Given the description of an element on the screen output the (x, y) to click on. 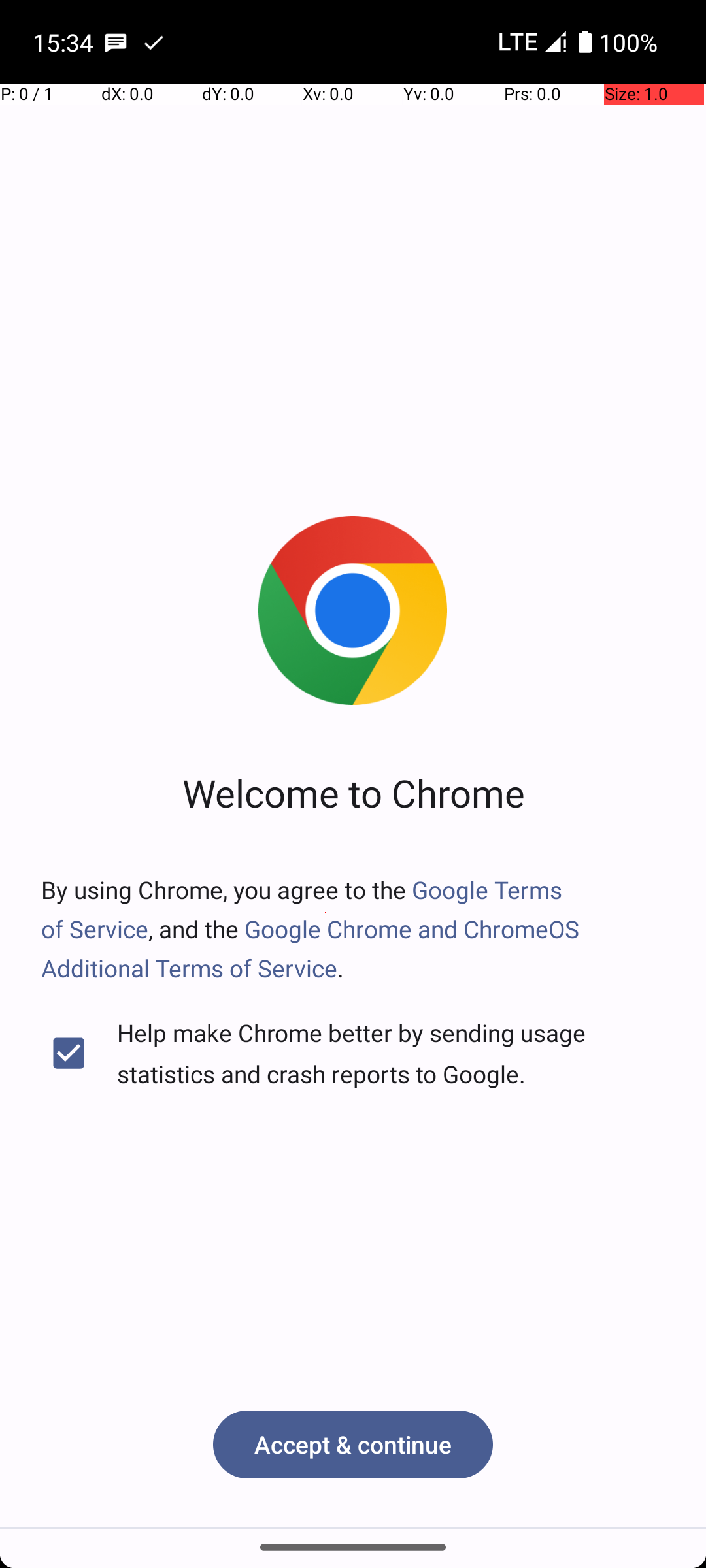
SMS Messenger notification: Daniel Ali Element type: android.widget.ImageView (115, 41)
Contacts notification: Finished exporting contacts.vcf. Element type: android.widget.ImageView (153, 41)
